Given the description of an element on the screen output the (x, y) to click on. 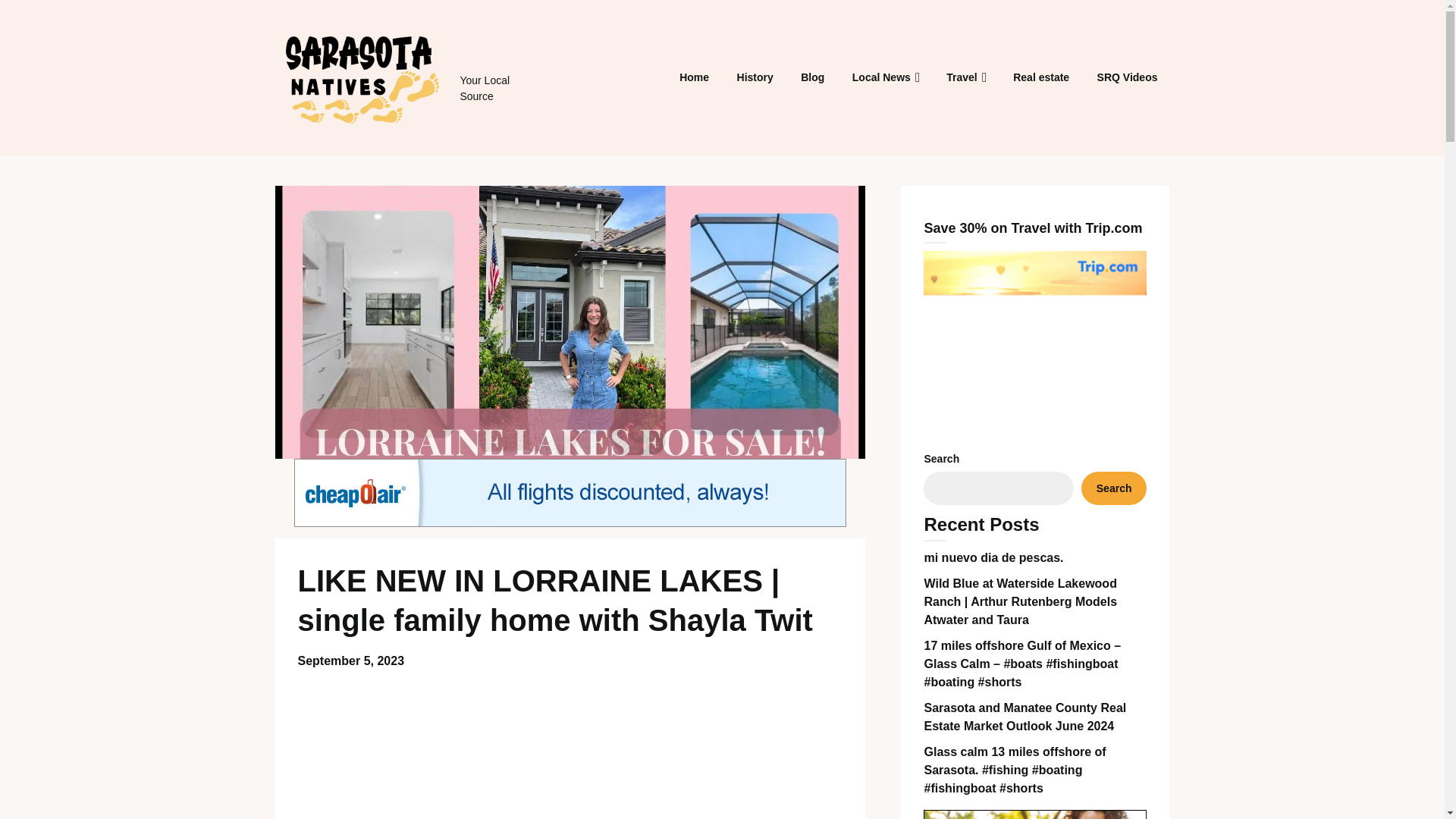
Local News (881, 77)
September 5, 2023 (350, 660)
YouTube video player (570, 748)
Blog (812, 77)
Home (693, 77)
Travel (961, 77)
SRQ Videos (1127, 77)
History (755, 77)
Real estate (1041, 77)
